Given the description of an element on the screen output the (x, y) to click on. 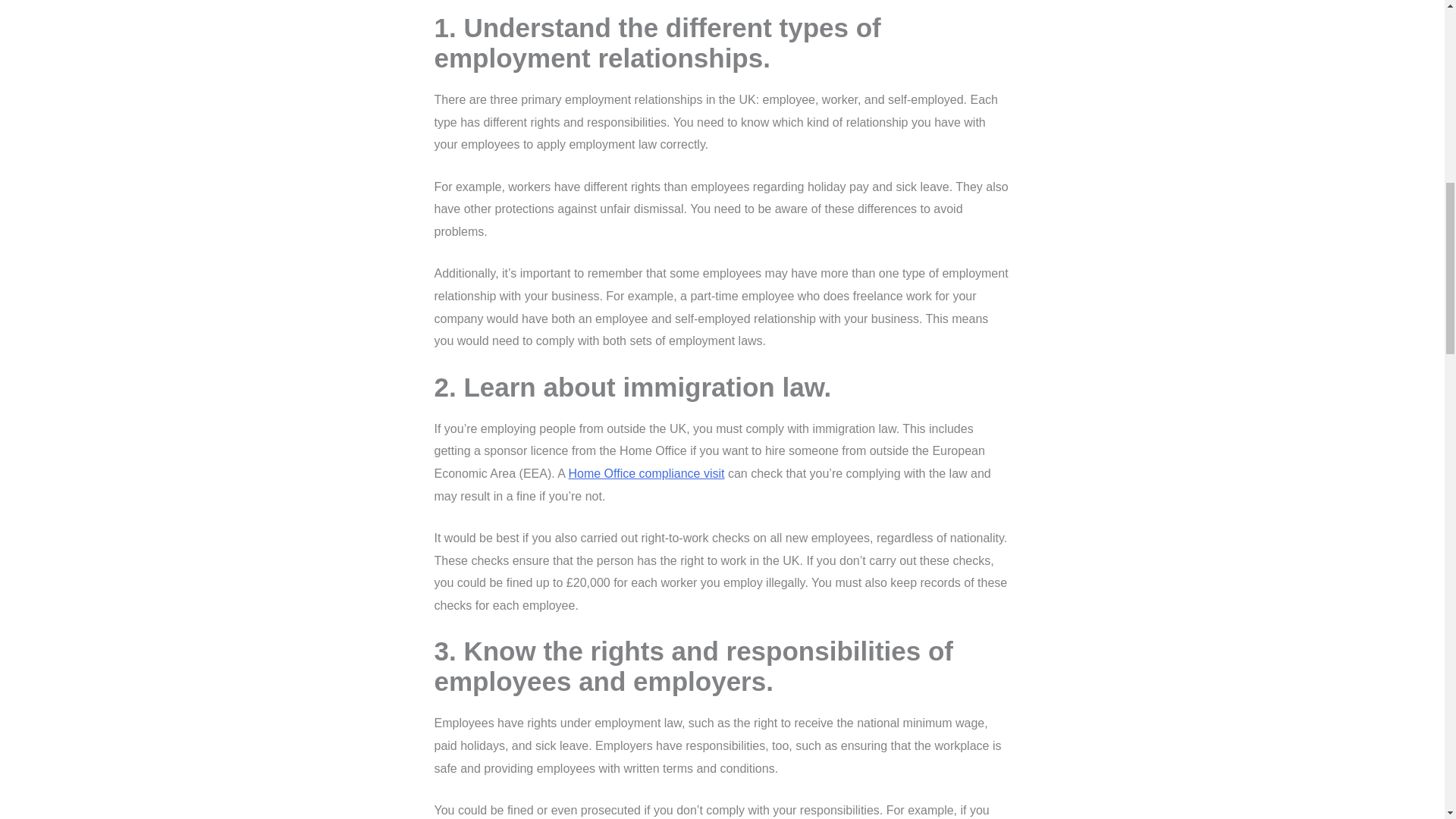
Home Office compliance visit (645, 472)
